Given the description of an element on the screen output the (x, y) to click on. 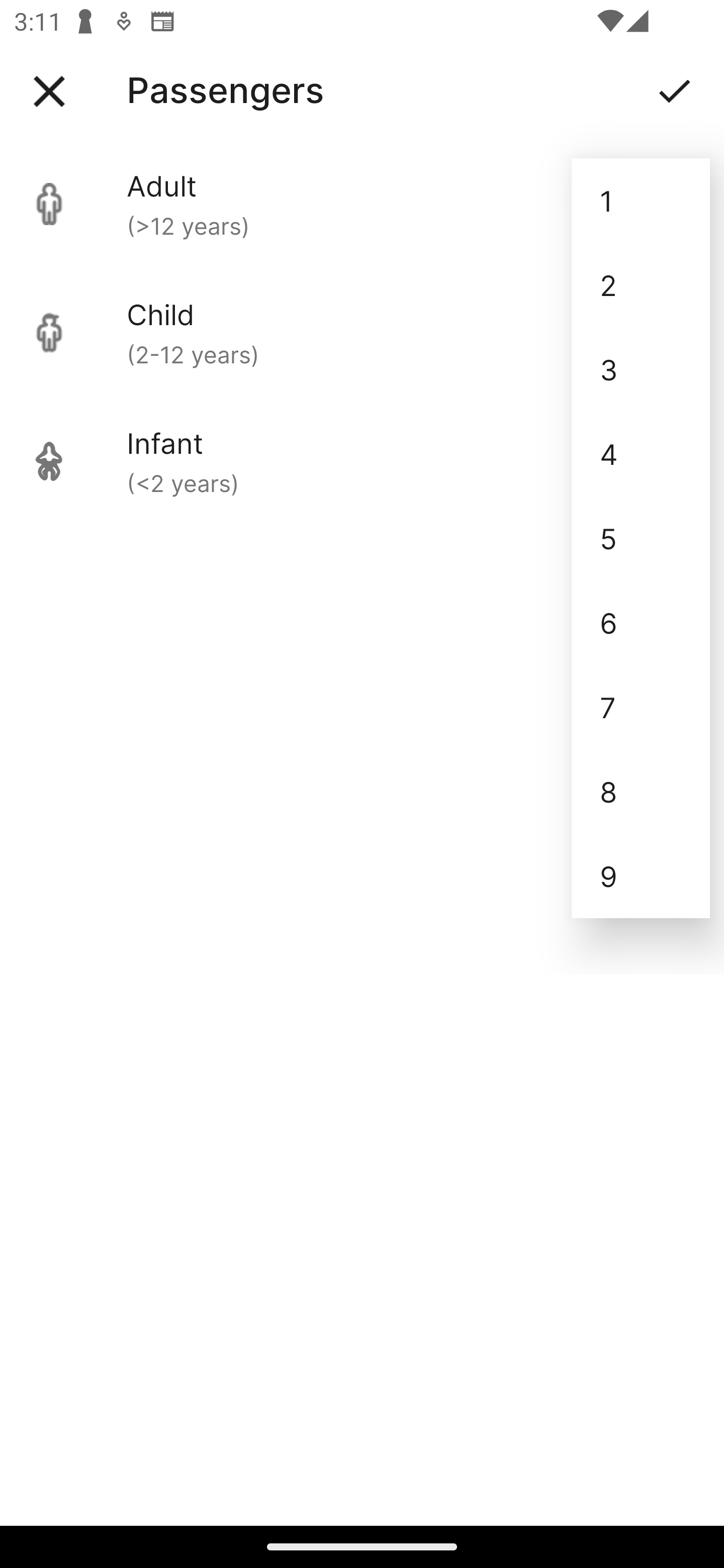
1 (640, 200)
2 (640, 285)
3 (640, 368)
4 (640, 452)
5 (640, 537)
6 (640, 622)
7 (640, 706)
8 (640, 791)
9 (640, 876)
